Given the description of an element on the screen output the (x, y) to click on. 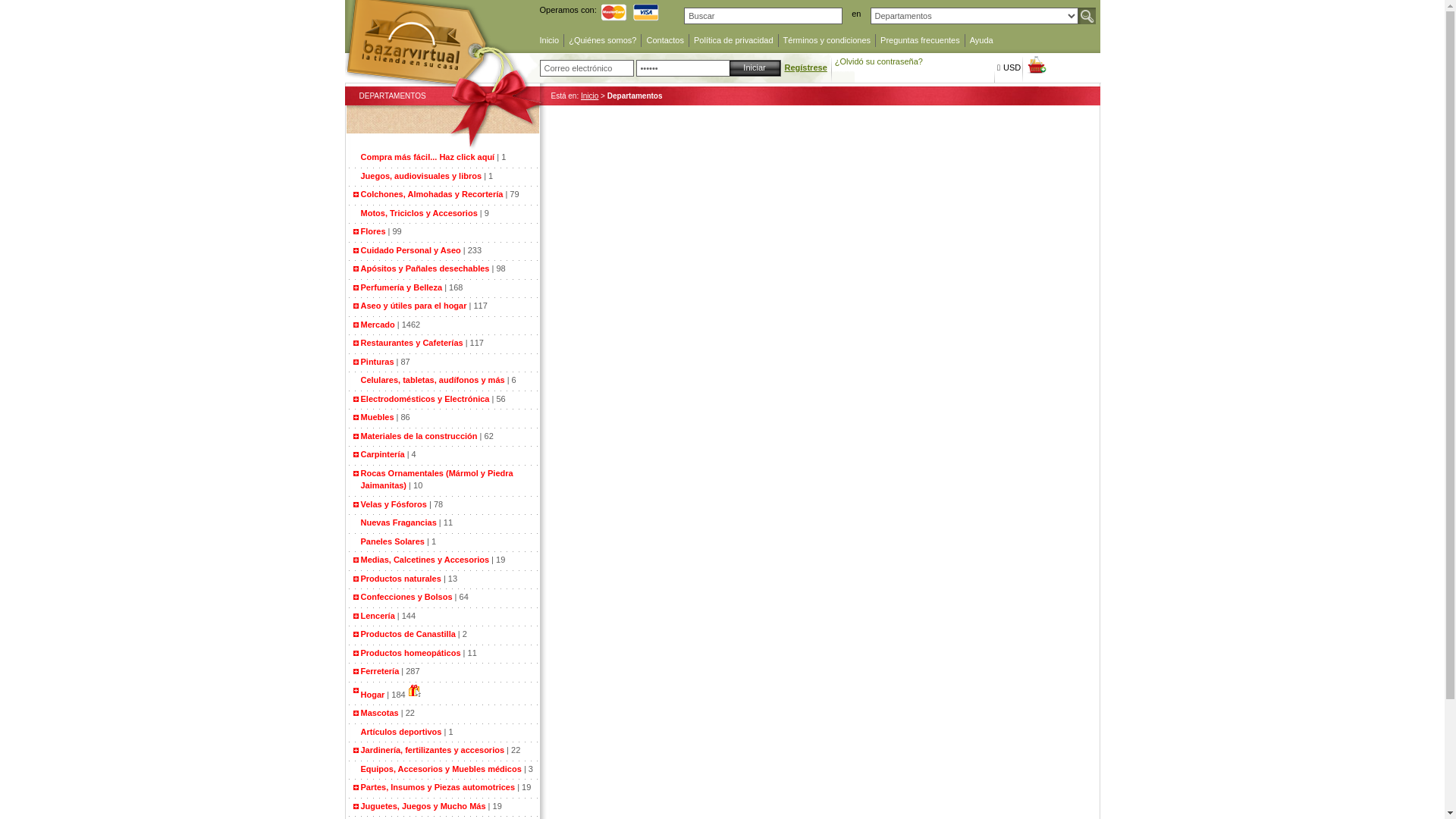
Partes, Insumos y Piezas automotrices Element type: text (437, 786)
Pinturas Element type: text (377, 360)
Cesta Element type: hover (1036, 64)
Nuevas Fragancias Element type: text (399, 522)
Productos de Canastilla Element type: text (407, 633)
Mercado Element type: text (377, 324)
Medias, Calcetines y Accesorios Element type: text (424, 559)
Mascotas Element type: text (379, 712)
Buscar Element type: hover (1086, 15)
Cuidado Personal y Aseo Element type: text (410, 249)
Inicio Element type: text (589, 95)
Flores Element type: text (372, 230)
Ayuda Element type: text (981, 40)
Iniciar Element type: text (754, 68)
tarjetas MASTERCARD y VISA Element type: hover (632, 12)
Muebles Element type: text (377, 416)
Juegos, audiovisuales y libros Element type: text (422, 175)
Preguntas frecuentes Element type: text (920, 40)
Inicio Element type: text (549, 40)
Bazar Virtual - Compra DTodo desde tu hogar Element type: hover (443, 76)
Contactos Element type: text (665, 40)
Confecciones y Bolsos Element type: text (406, 596)
Motos, Triciclos y Accesorios Element type: text (420, 211)
Hogar Element type: text (372, 694)
Productos naturales Element type: text (400, 577)
Paneles Solares Element type: text (393, 541)
